Given the description of an element on the screen output the (x, y) to click on. 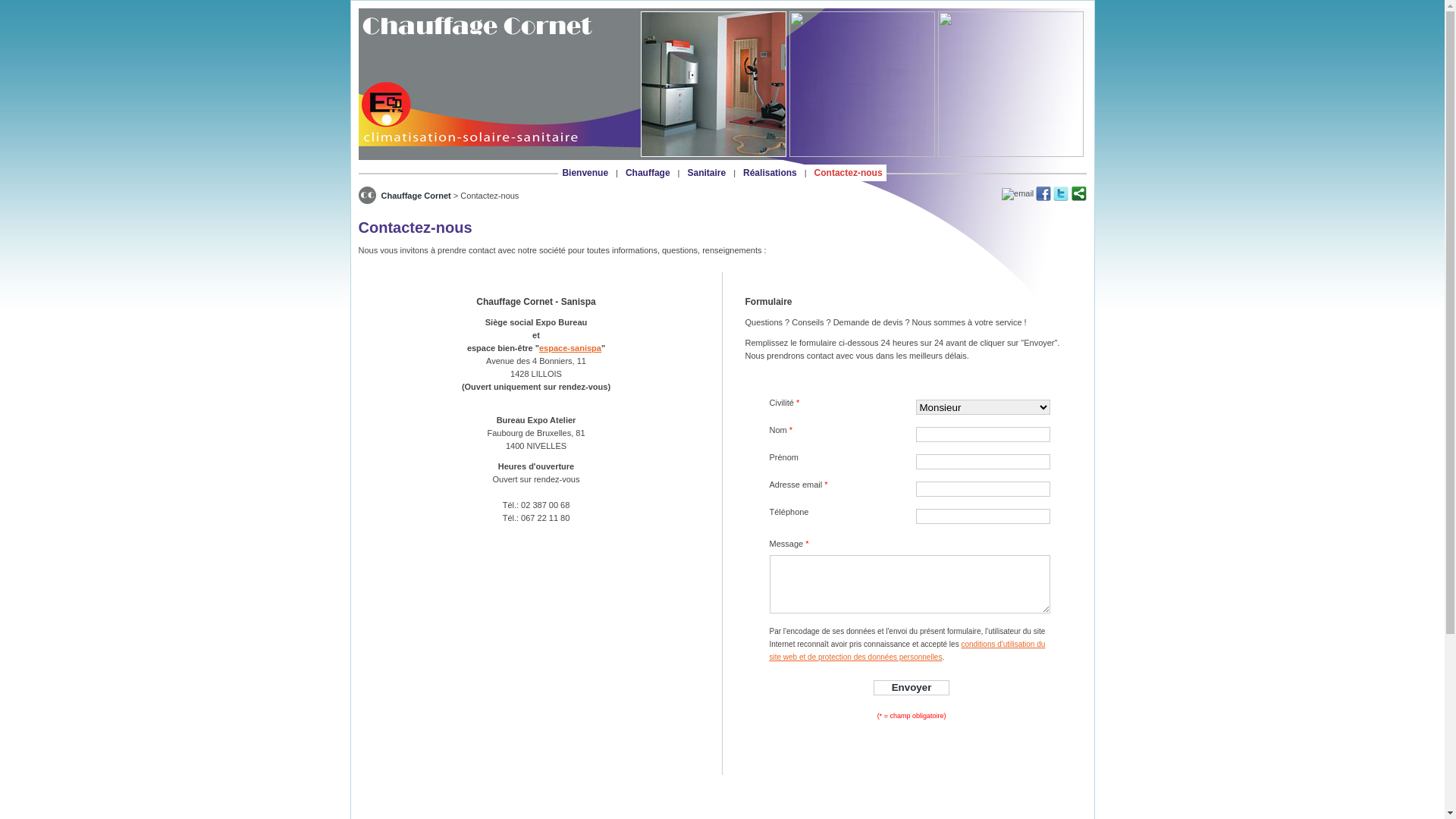
Sanitaire Element type: text (706, 172)
espace-sanispa Element type: text (570, 347)
Contactez-nous Element type: text (848, 172)
Envoyer Element type: text (911, 687)
Chauffage Element type: text (647, 172)
Chauffage Cornet Element type: text (415, 195)
Bienvenue Element type: text (584, 172)
